Given the description of an element on the screen output the (x, y) to click on. 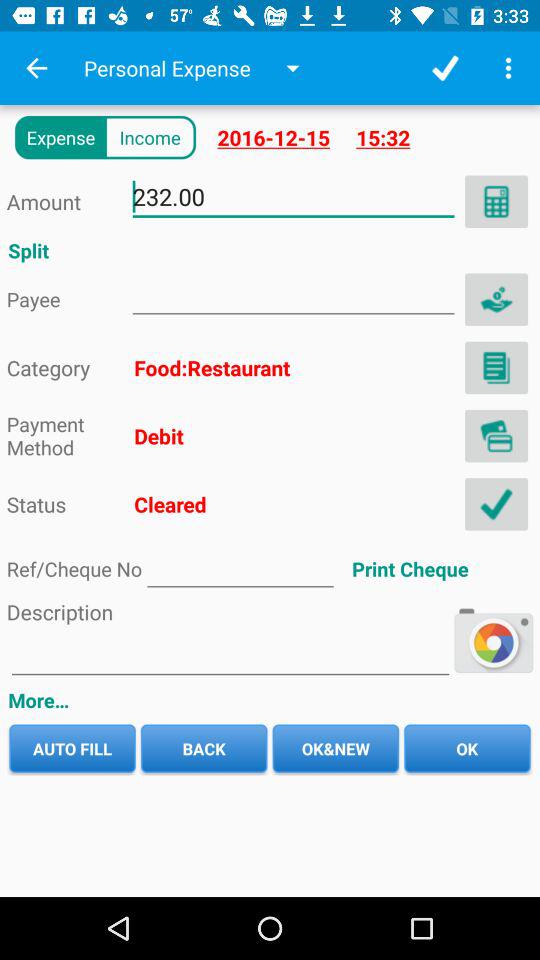
split (496, 299)
